Given the description of an element on the screen output the (x, y) to click on. 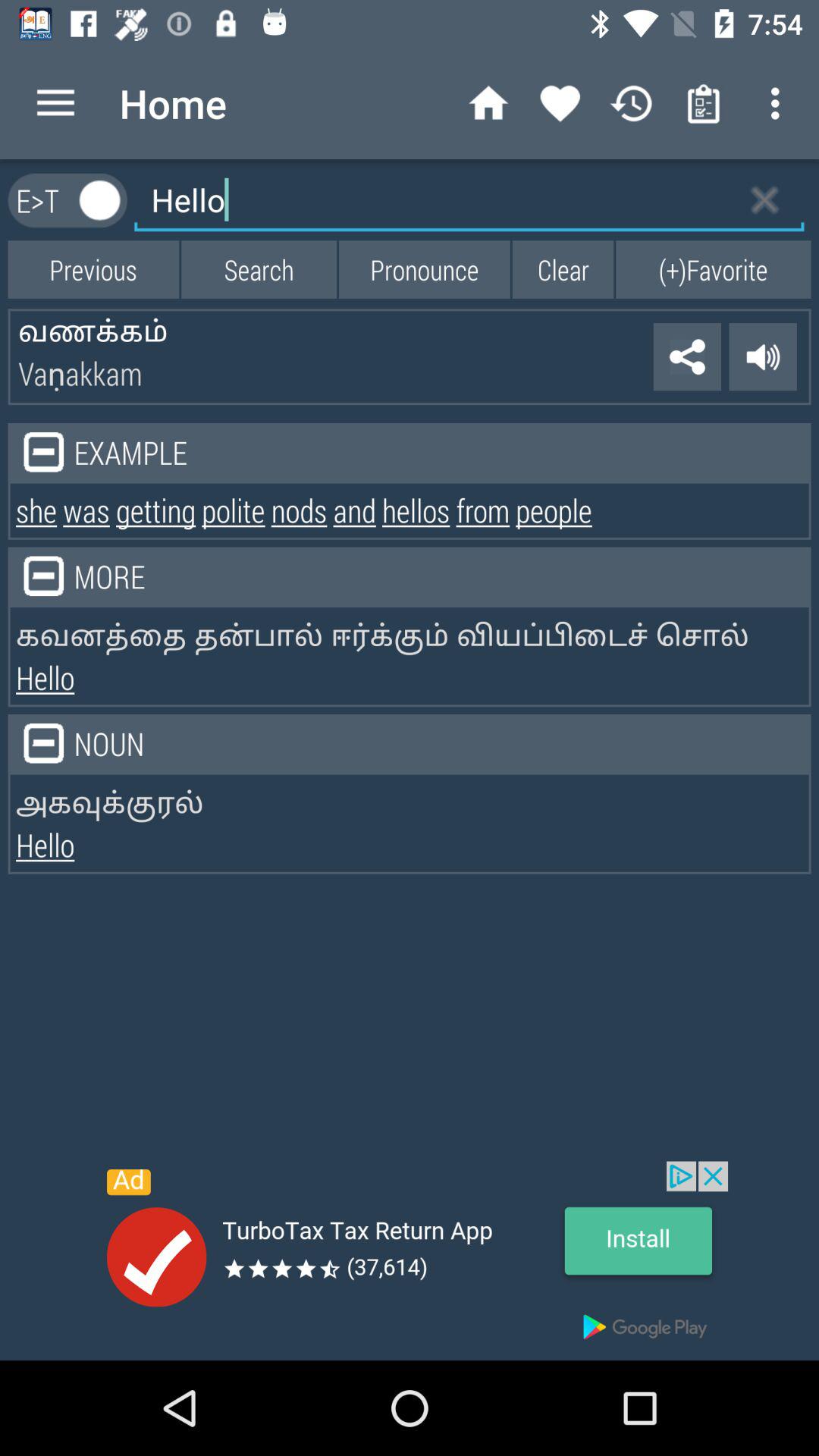
this is not only a dictionary but also a learning tool (100, 200)
